Given the description of an element on the screen output the (x, y) to click on. 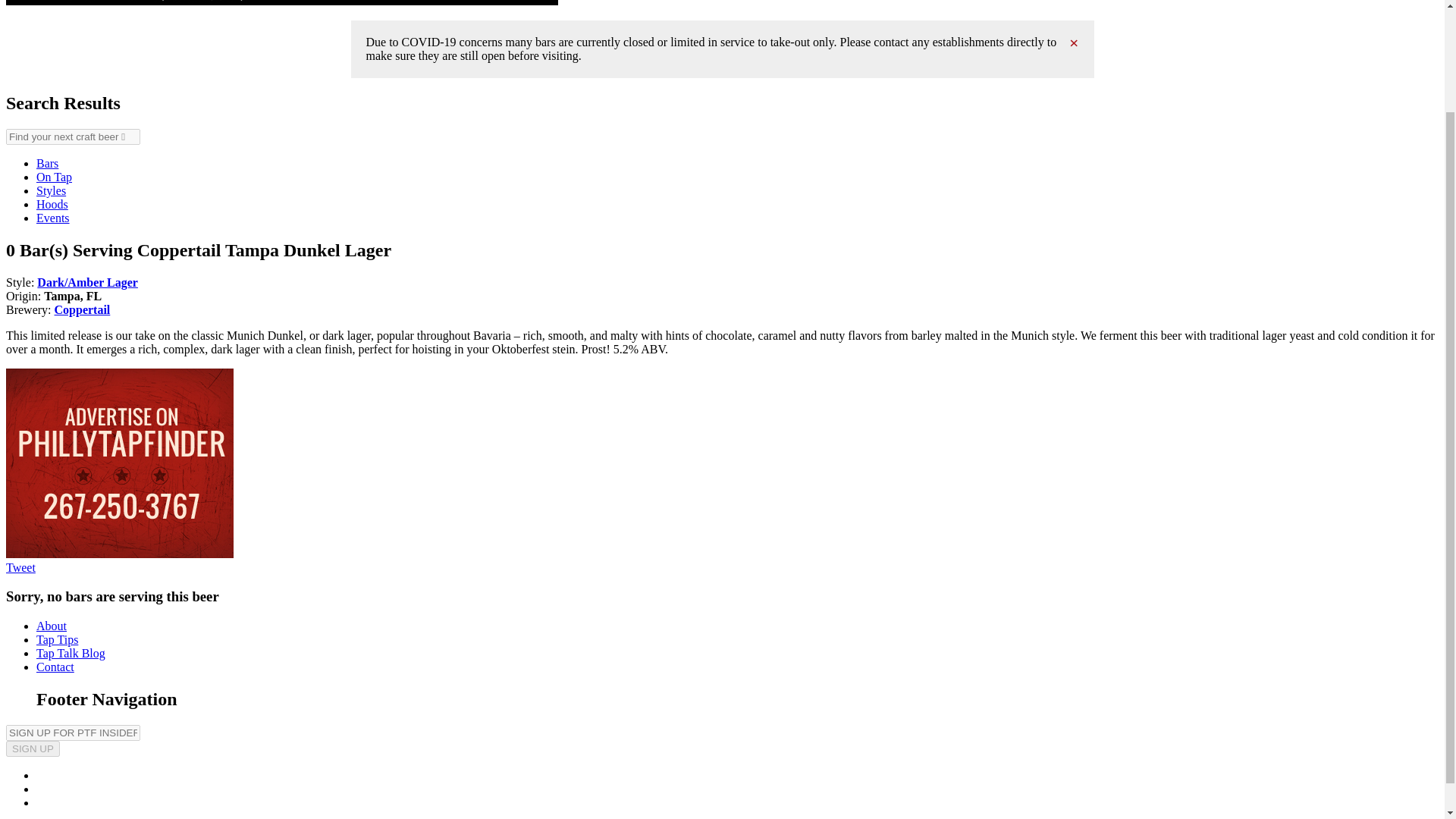
Tap Tips (57, 639)
Contact (55, 666)
Tweet (19, 566)
SIGN UP (32, 748)
Contact (55, 666)
SIGN UP (32, 748)
Tap Talk Blog (70, 653)
About (51, 625)
About (51, 625)
Coppertail (82, 308)
